Given the description of an element on the screen output the (x, y) to click on. 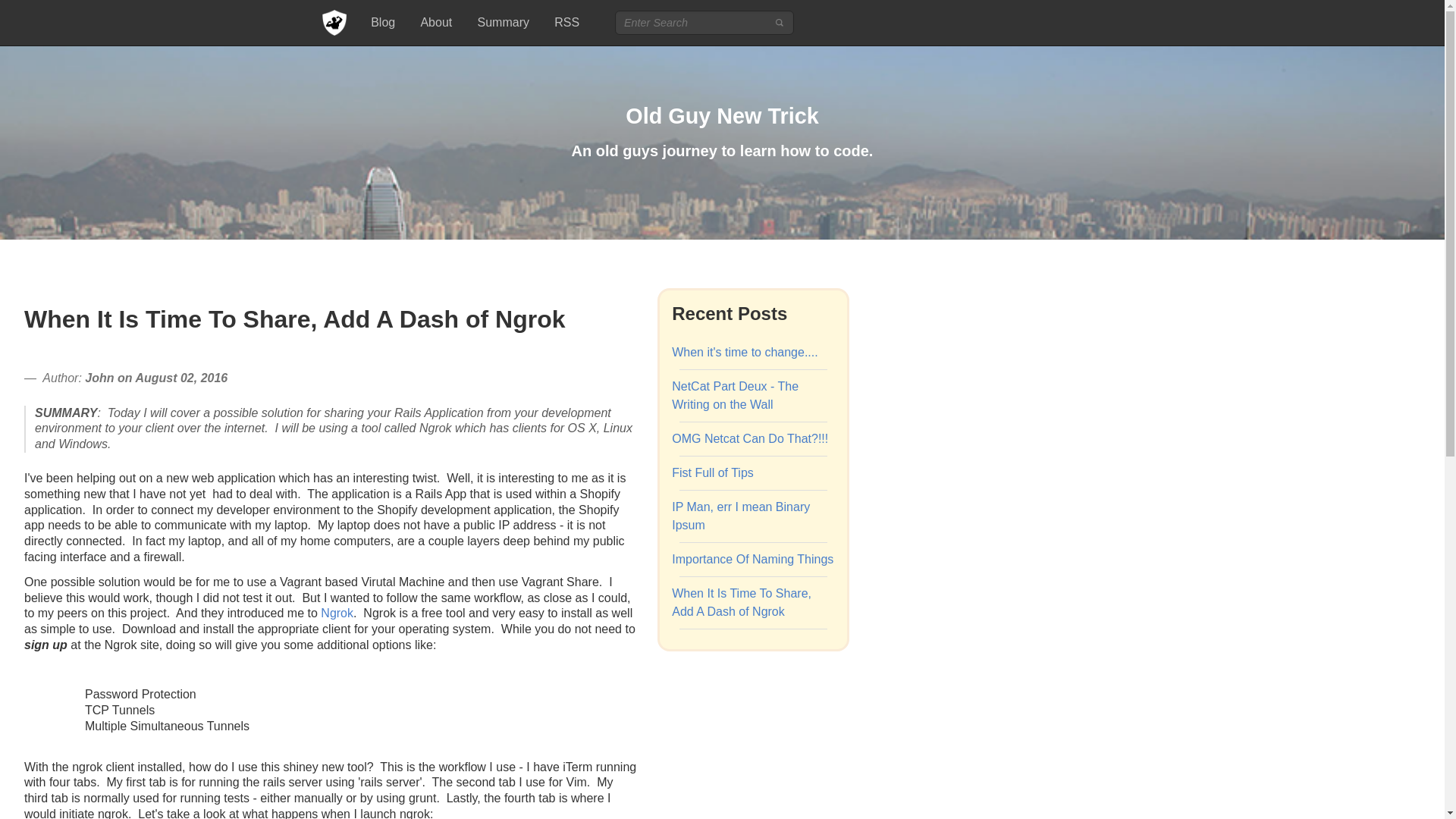
Ngrok (336, 612)
Fist Full of Tips (712, 472)
When It Is Time To Share, Add A Dash of Ngrok (740, 602)
OMG Netcat Can Do That?!!! (749, 438)
About (442, 22)
Importance Of Naming Things (751, 558)
NetCat Part Deux - The Writing on the Wall (734, 395)
Summary (509, 22)
IP Man, err I mean Binary Ipsum (740, 515)
When it's time to change.... (743, 351)
